Given the description of an element on the screen output the (x, y) to click on. 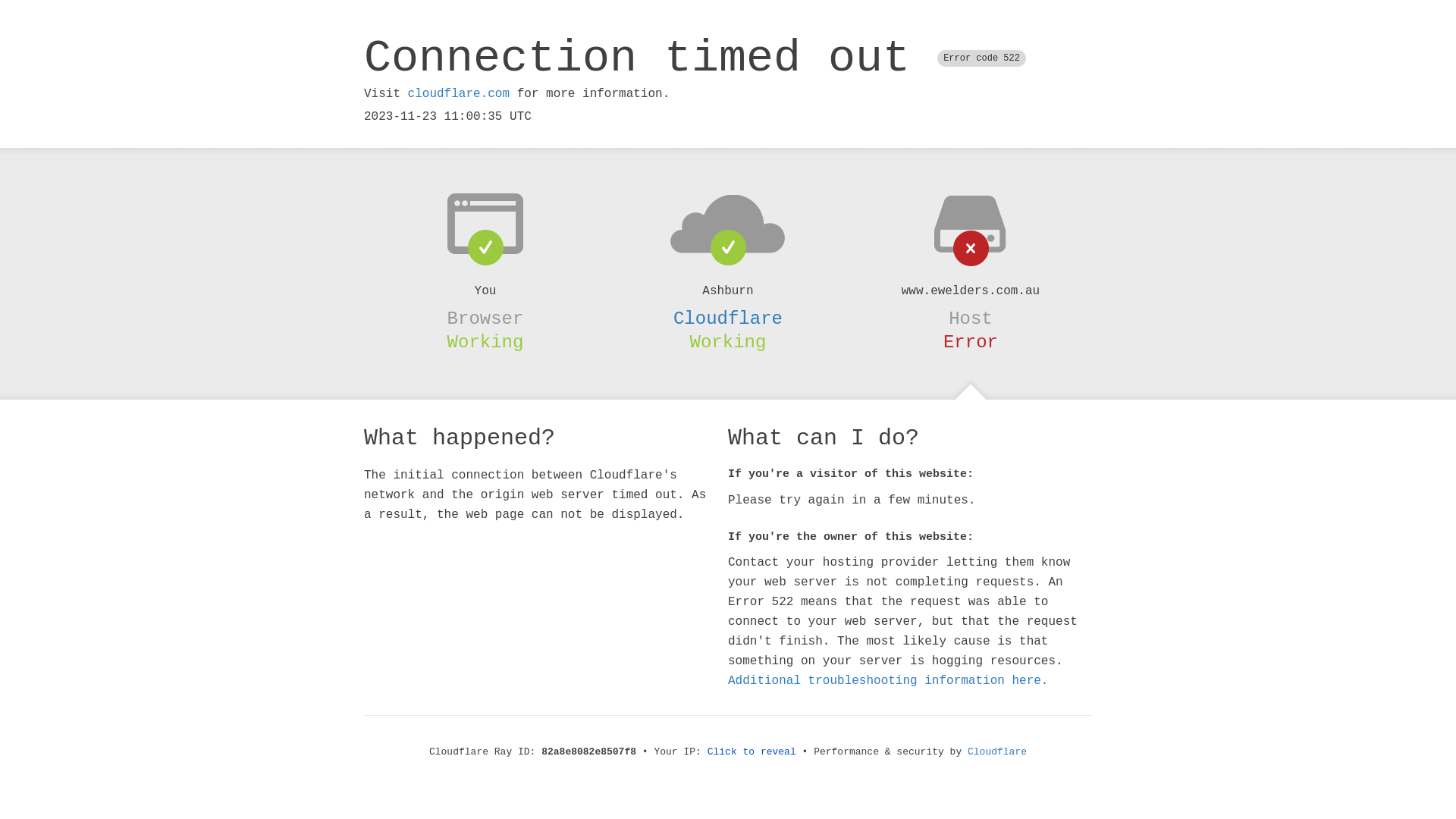
Cloudflare Element type: text (996, 751)
Cloudflare Element type: text (727, 318)
cloudflare.com Element type: text (458, 93)
Click to reveal Element type: text (751, 751)
Additional troubleshooting information here. Element type: text (888, 680)
